Given the description of an element on the screen output the (x, y) to click on. 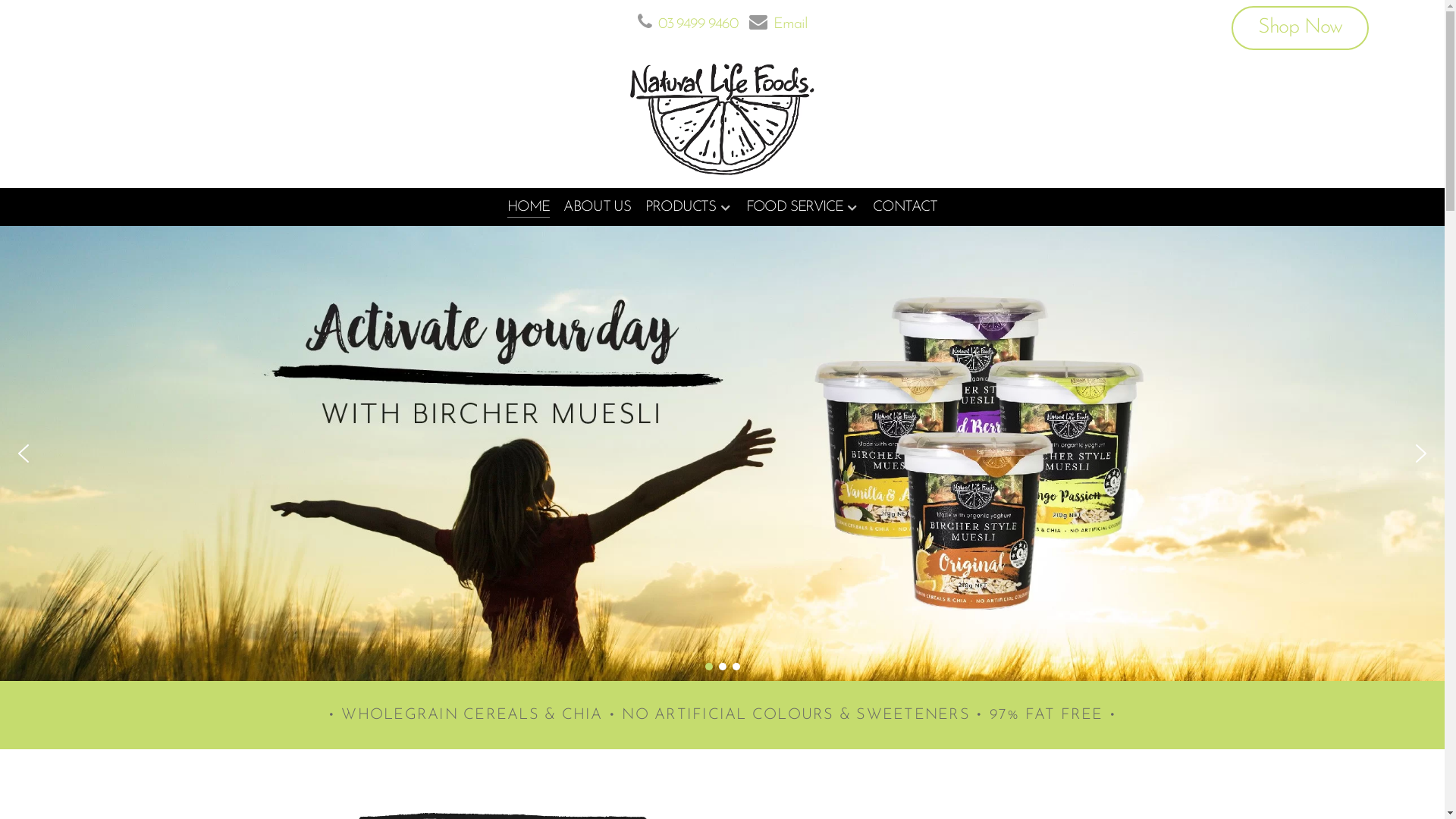
CONTACT Element type: text (904, 208)
Email Element type: text (789, 23)
ABOUT US Element type: text (596, 208)
FOOD SERVICE Element type: text (802, 208)
03 9499 9460 Element type: text (697, 23)
PRODUCTS Element type: text (688, 208)
Shop Now Element type: text (1299, 28)
HOME Element type: text (528, 208)
